Given the description of an element on the screen output the (x, y) to click on. 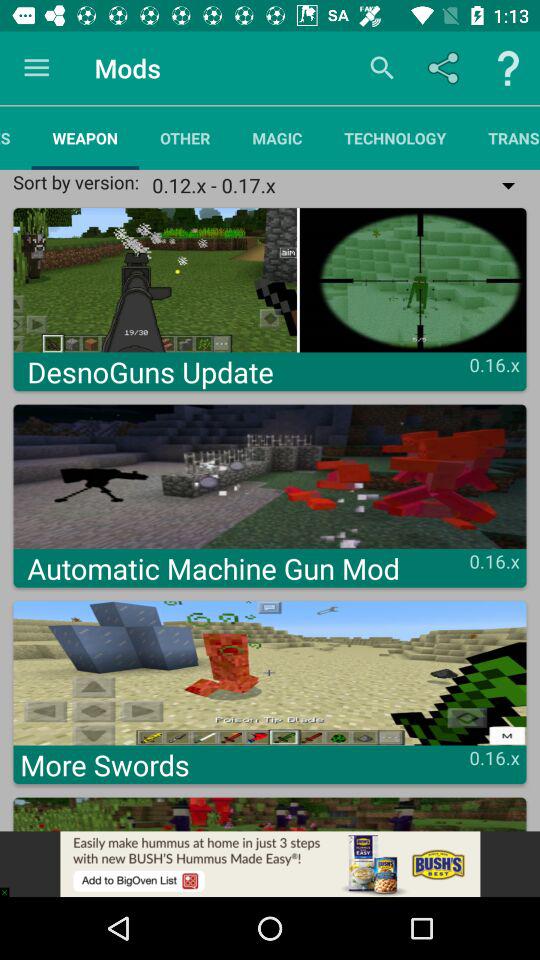
scroll until the other app (185, 137)
